Given the description of an element on the screen output the (x, y) to click on. 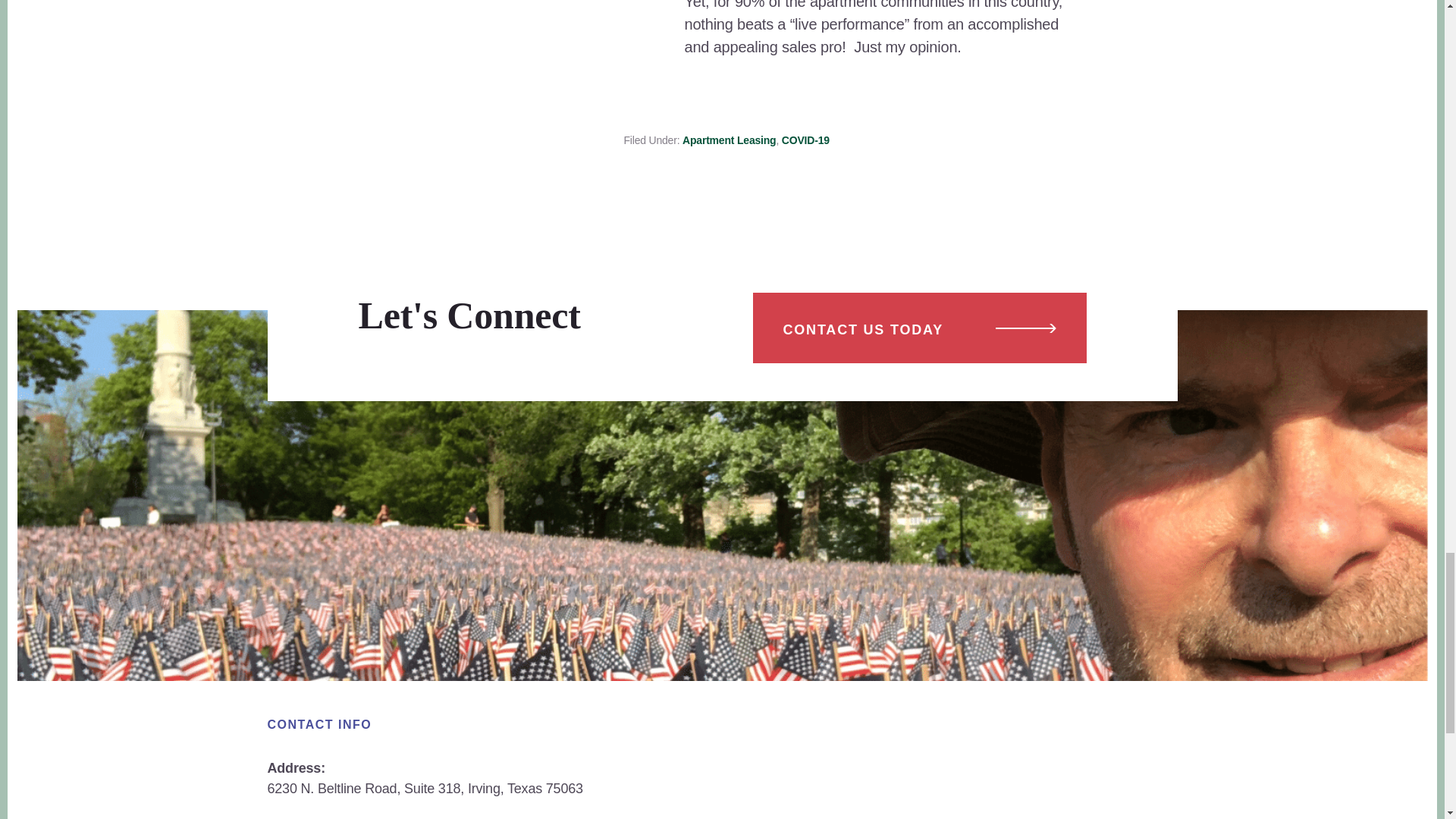
COVID-19 (805, 140)
Apartment Leasing (729, 140)
